Given the description of an element on the screen output the (x, y) to click on. 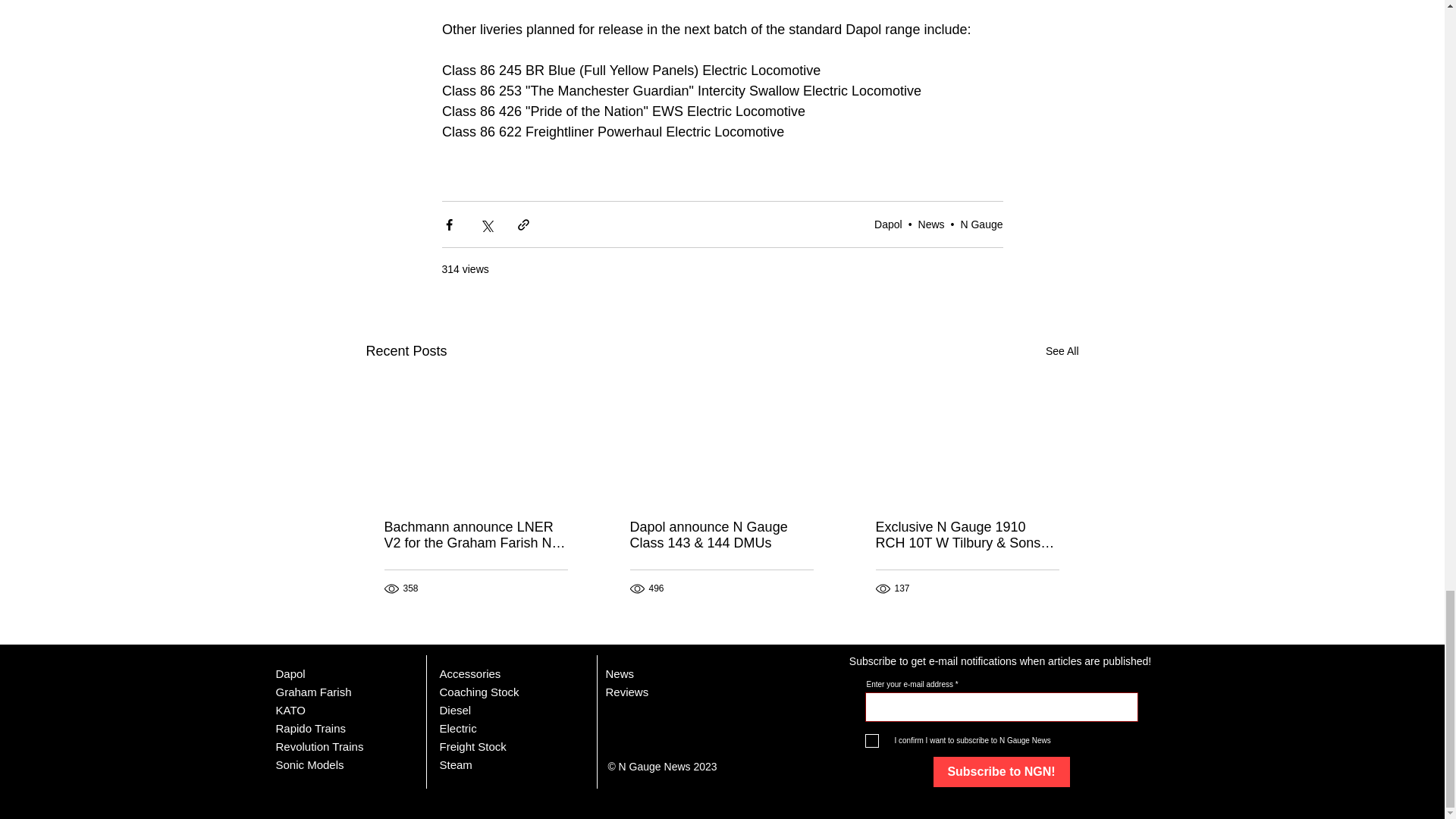
Dapol (888, 224)
News (931, 224)
N Gauge (981, 224)
See All (1061, 351)
